Given the description of an element on the screen output the (x, y) to click on. 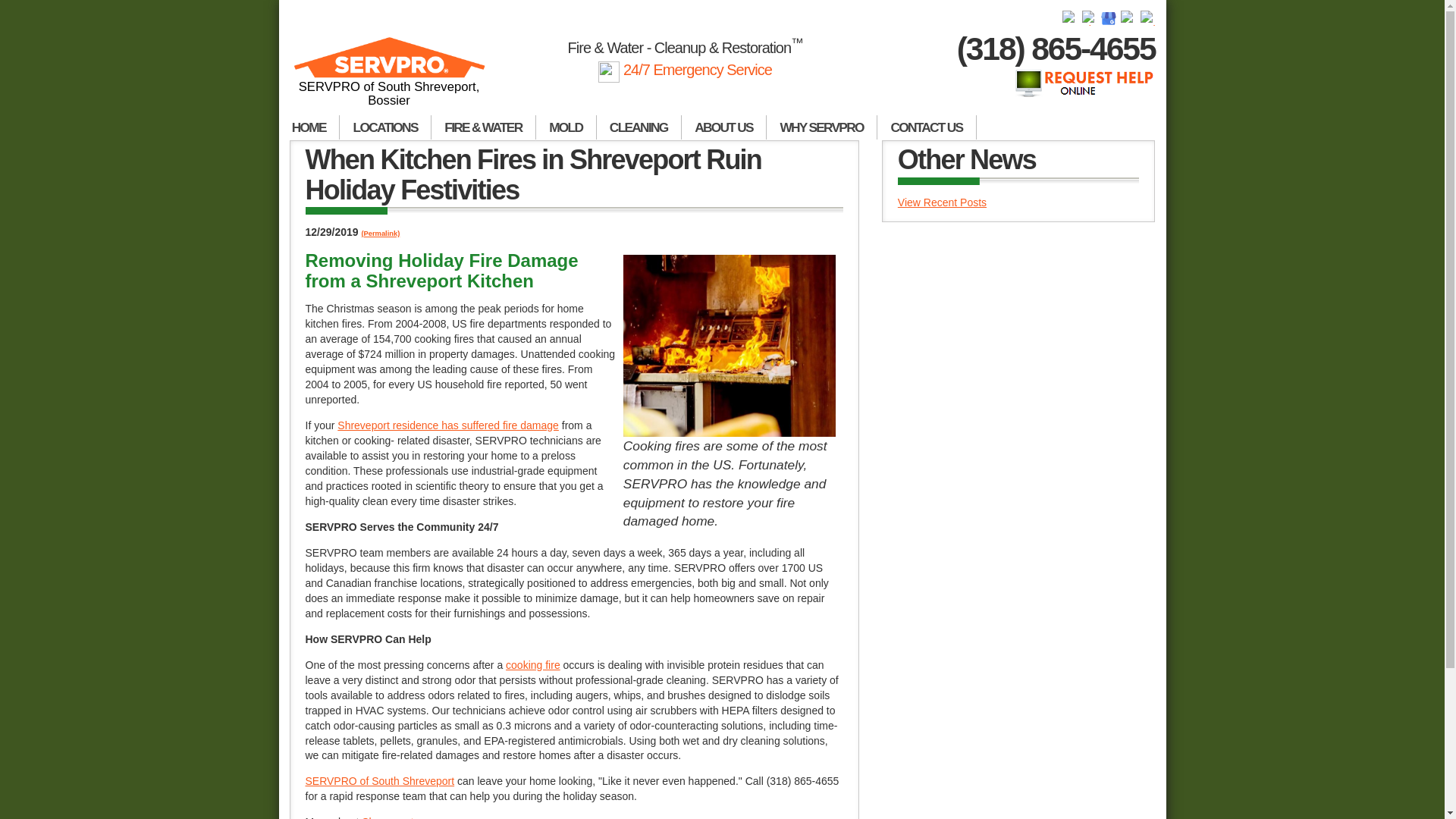
MOLD (565, 127)
SERVPRO of South Shreveport, Bossier (389, 78)
CLEANING (638, 127)
LOCATIONS (384, 127)
HOME (309, 127)
